Given the description of an element on the screen output the (x, y) to click on. 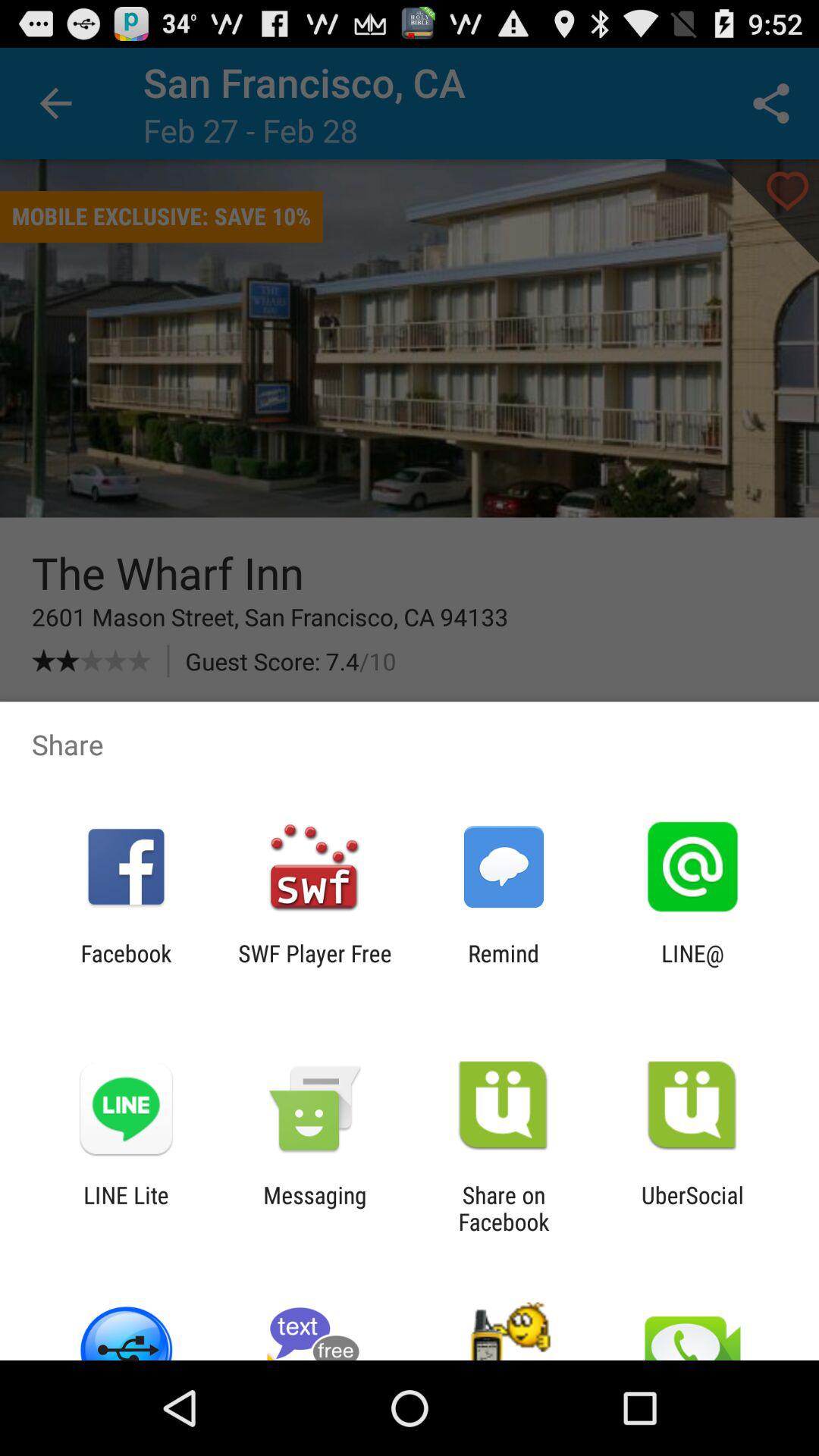
click messaging (314, 1208)
